Given the description of an element on the screen output the (x, y) to click on. 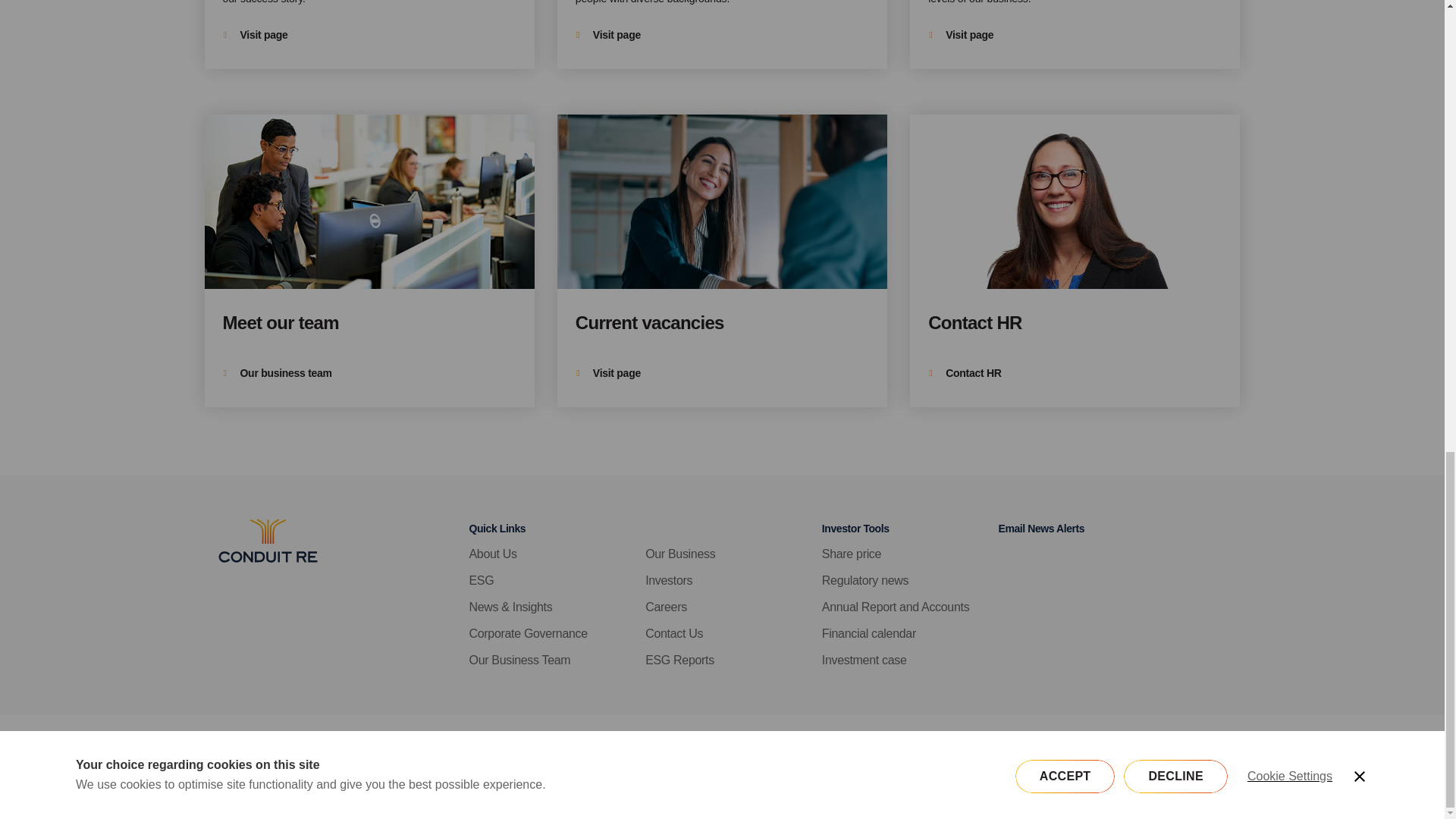
Visit page (369, 34)
Visit page (608, 34)
Visit page (608, 372)
Our business team (369, 260)
Visit page (1075, 34)
Visit page (254, 34)
Visit page (721, 34)
Visit page (960, 34)
Visit page (721, 260)
Contact HR (964, 372)
